Given the description of an element on the screen output the (x, y) to click on. 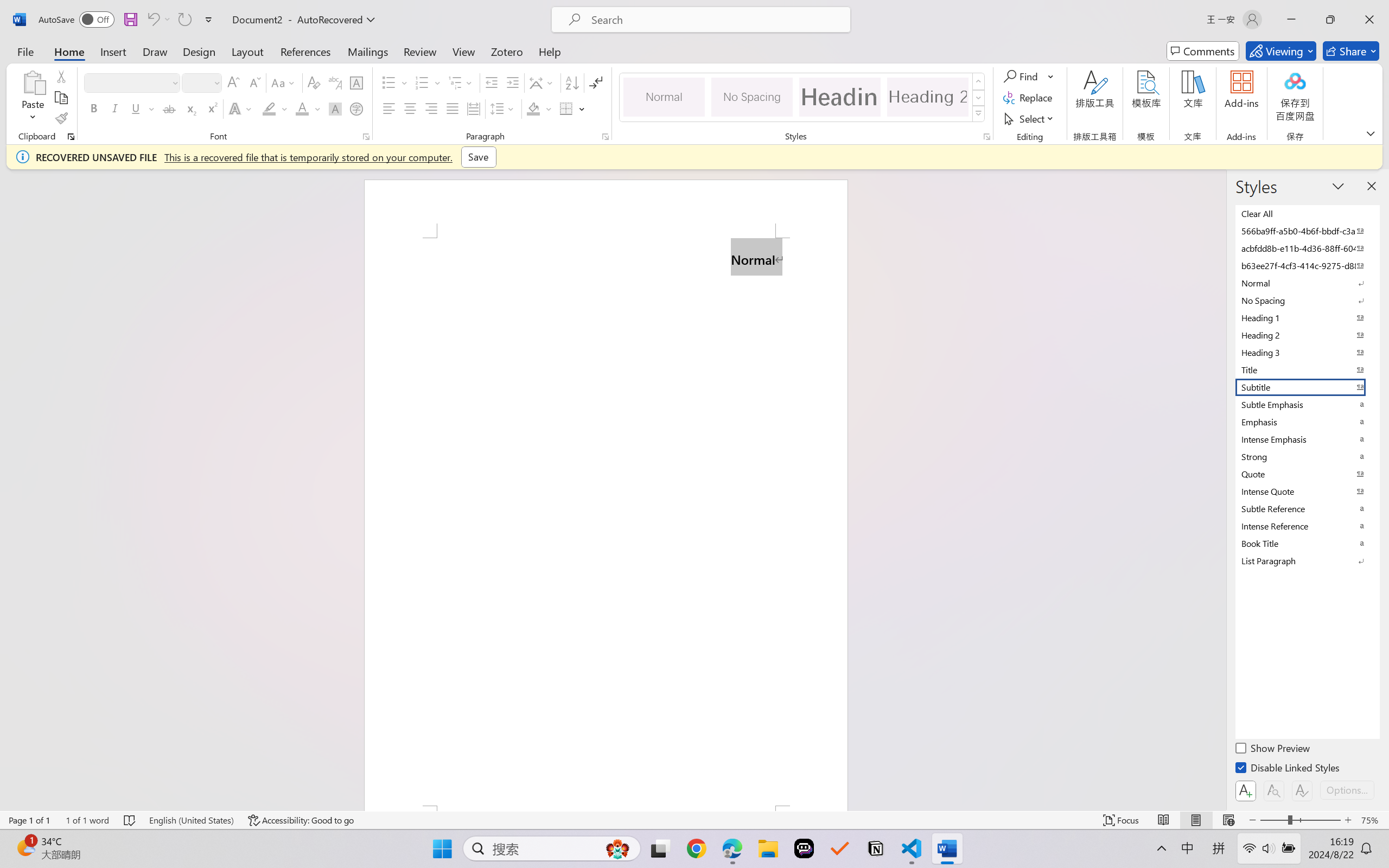
Page 1 content (605, 521)
Text Highlight Color (274, 108)
Enclose Characters... (356, 108)
Paragraph... (605, 136)
Disable Linked Styles (1287, 769)
Office Clipboard... (70, 136)
Help (549, 51)
Shading (539, 108)
